Given the description of an element on the screen output the (x, y) to click on. 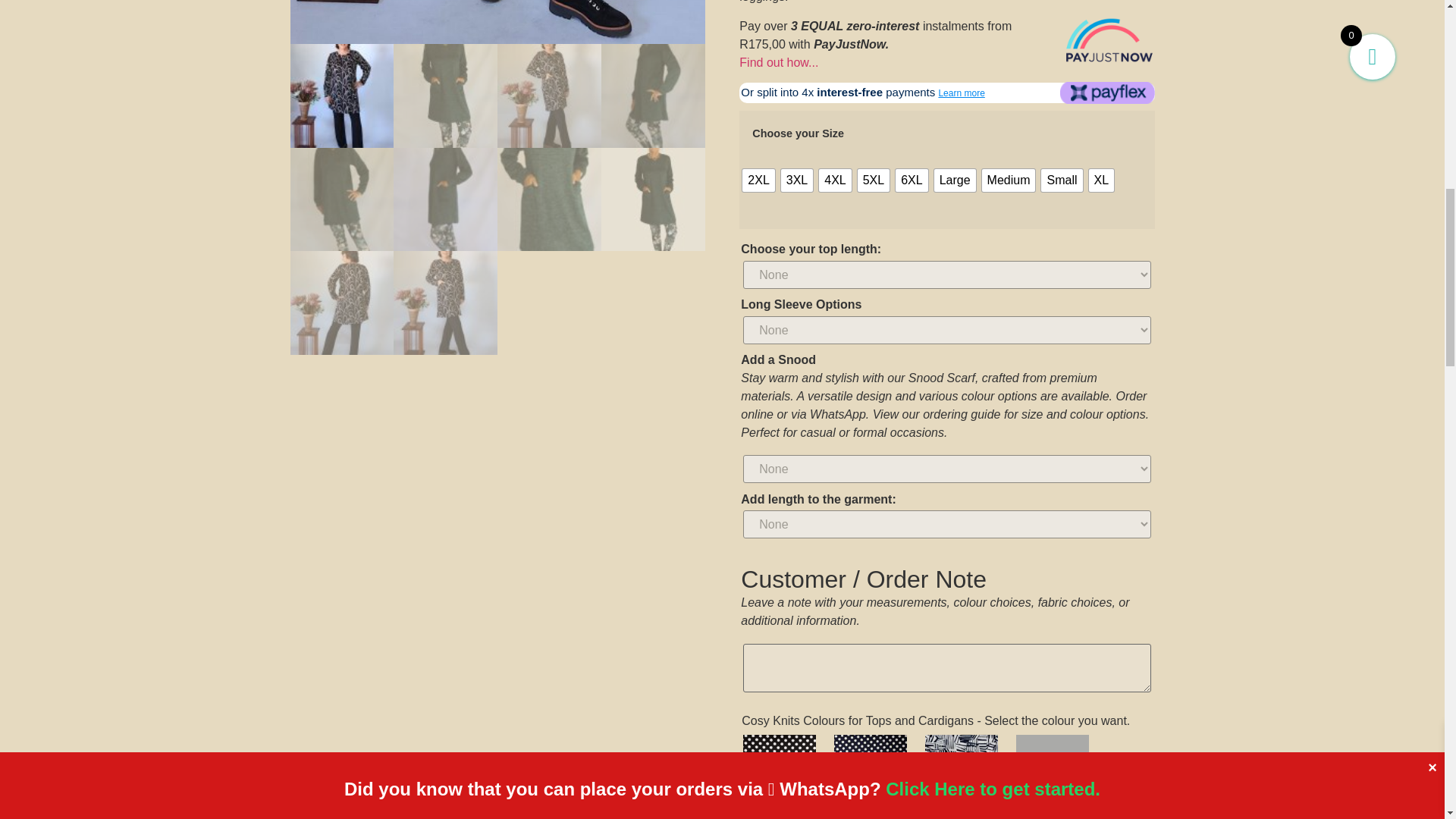
2XL (758, 179)
4XL (834, 179)
3XL (796, 179)
Judy Long Sleeve Tunic Top with Pockets 8 (496, 22)
